Given the description of an element on the screen output the (x, y) to click on. 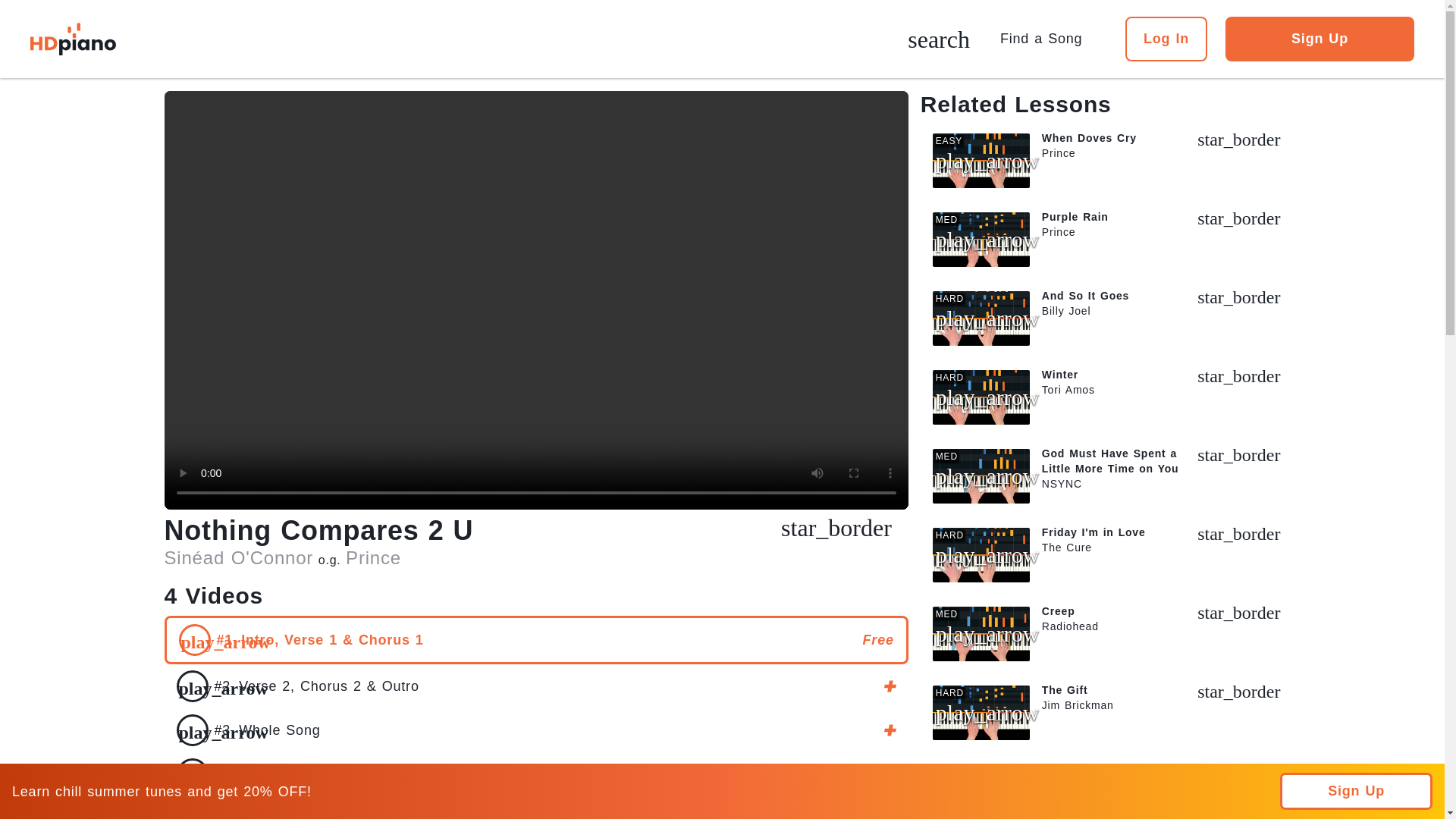
Prince (373, 558)
Sign up to get started (535, 730)
Sign up to get started (535, 774)
When Doves Cry by Prince (1106, 160)
Log In (1166, 38)
Sign Up (1319, 38)
Sign up to get started (836, 532)
search (938, 40)
Sign up to get started (535, 685)
Find a Song (1047, 38)
